Given the description of an element on the screen output the (x, y) to click on. 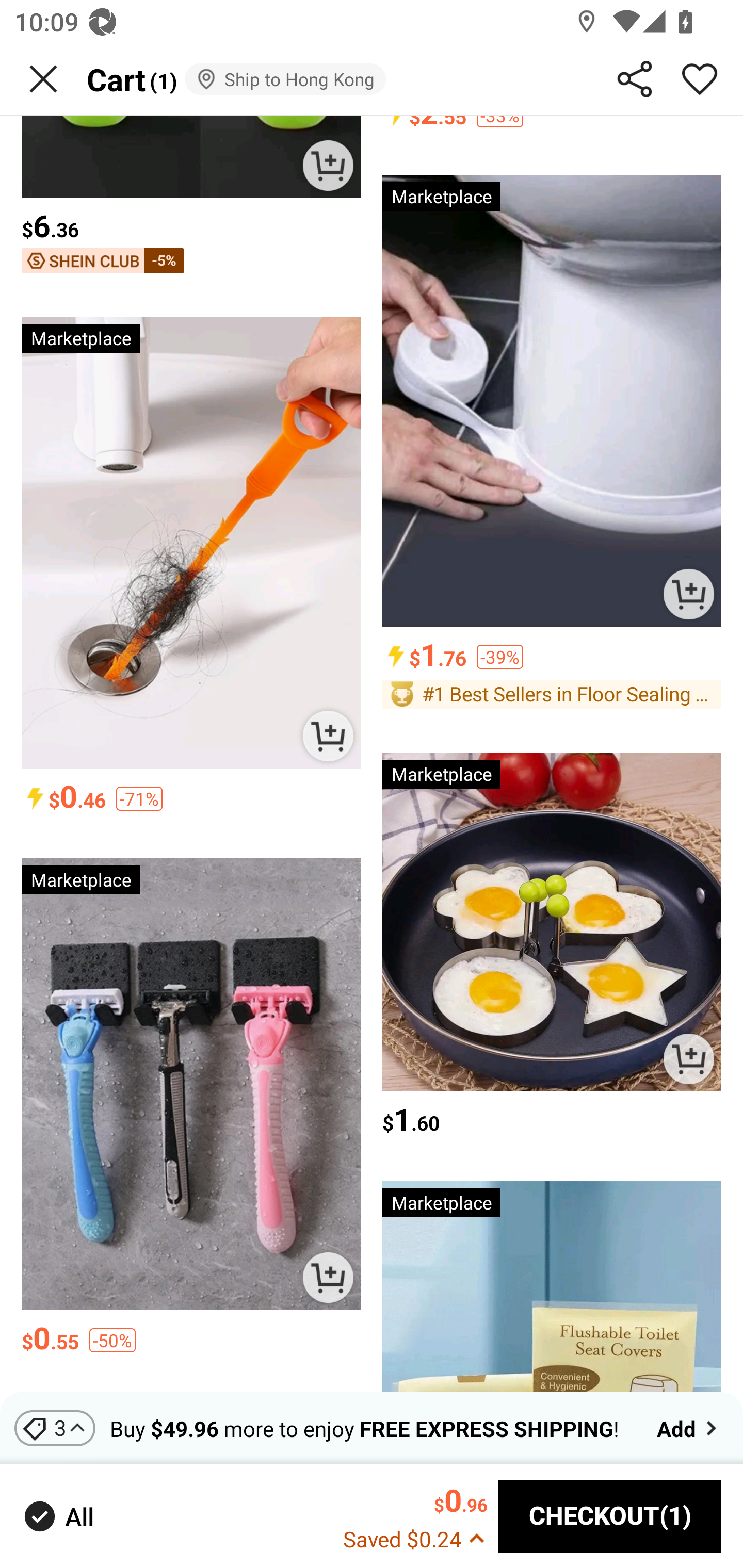
BACK (43, 78)
Wishlist (699, 78)
Share (634, 79)
Ship to Hong Kong (285, 78)
ADD TO CART (327, 165)
ADD TO CART (688, 594)
ADD TO CART (327, 736)
ADD TO CART (688, 1059)
ADD TO CART (327, 1277)
3 (54, 1428)
Add (688, 1428)
CHECKOUT(1) (609, 1516)
All (57, 1517)
